Given the description of an element on the screen output the (x, y) to click on. 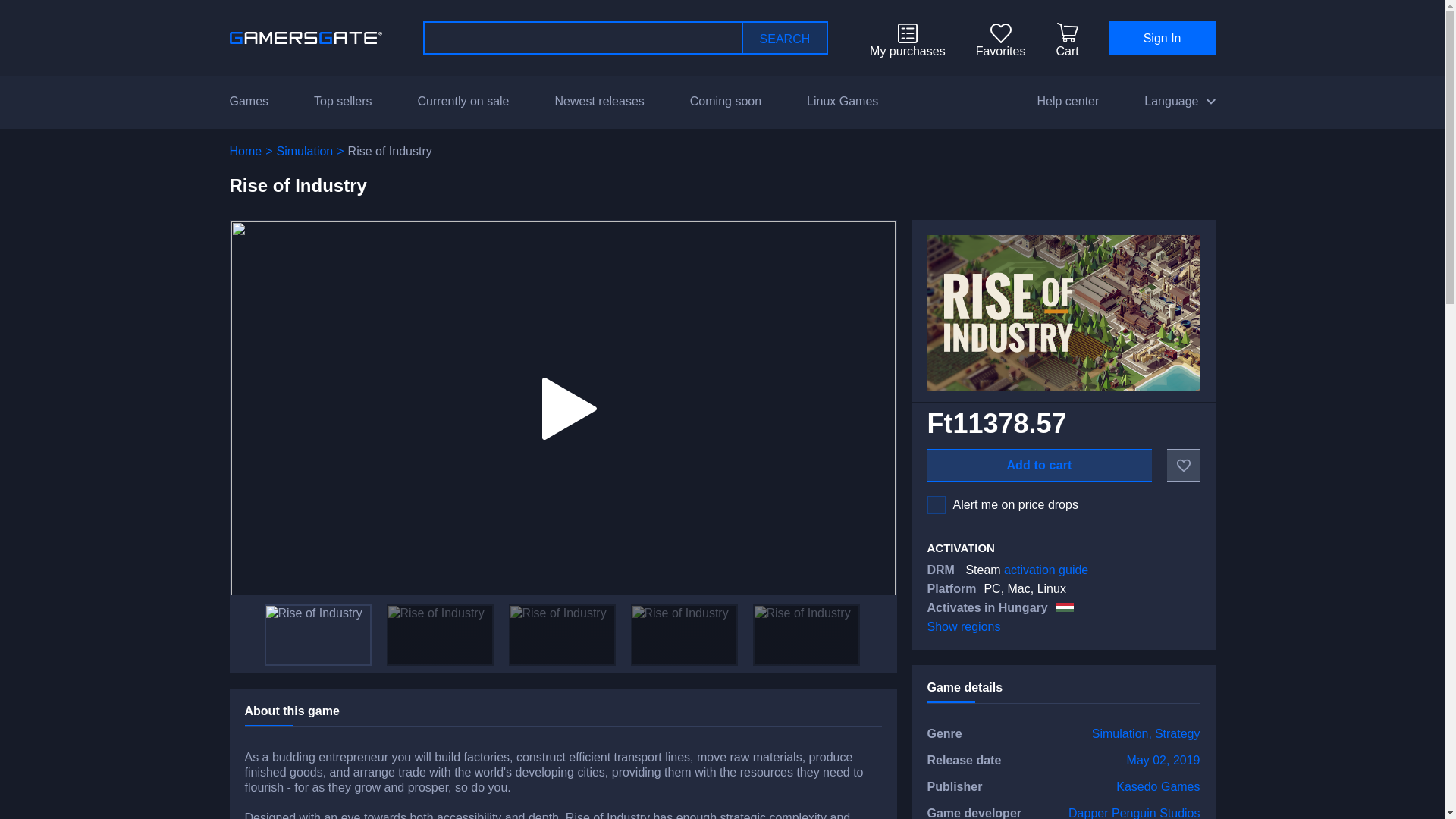
Sign In (1162, 37)
Help center (1067, 102)
Home (245, 151)
Linux Games (841, 102)
Language (1179, 102)
Strategy (1176, 734)
Currently on sale (463, 102)
Cart (1066, 51)
Show regions (963, 626)
Top sellers (342, 102)
Currently on sale (463, 102)
Coming soon (725, 102)
Strategy (1176, 734)
Coming soon (725, 102)
Simulation (1120, 734)
